Given the description of an element on the screen output the (x, y) to click on. 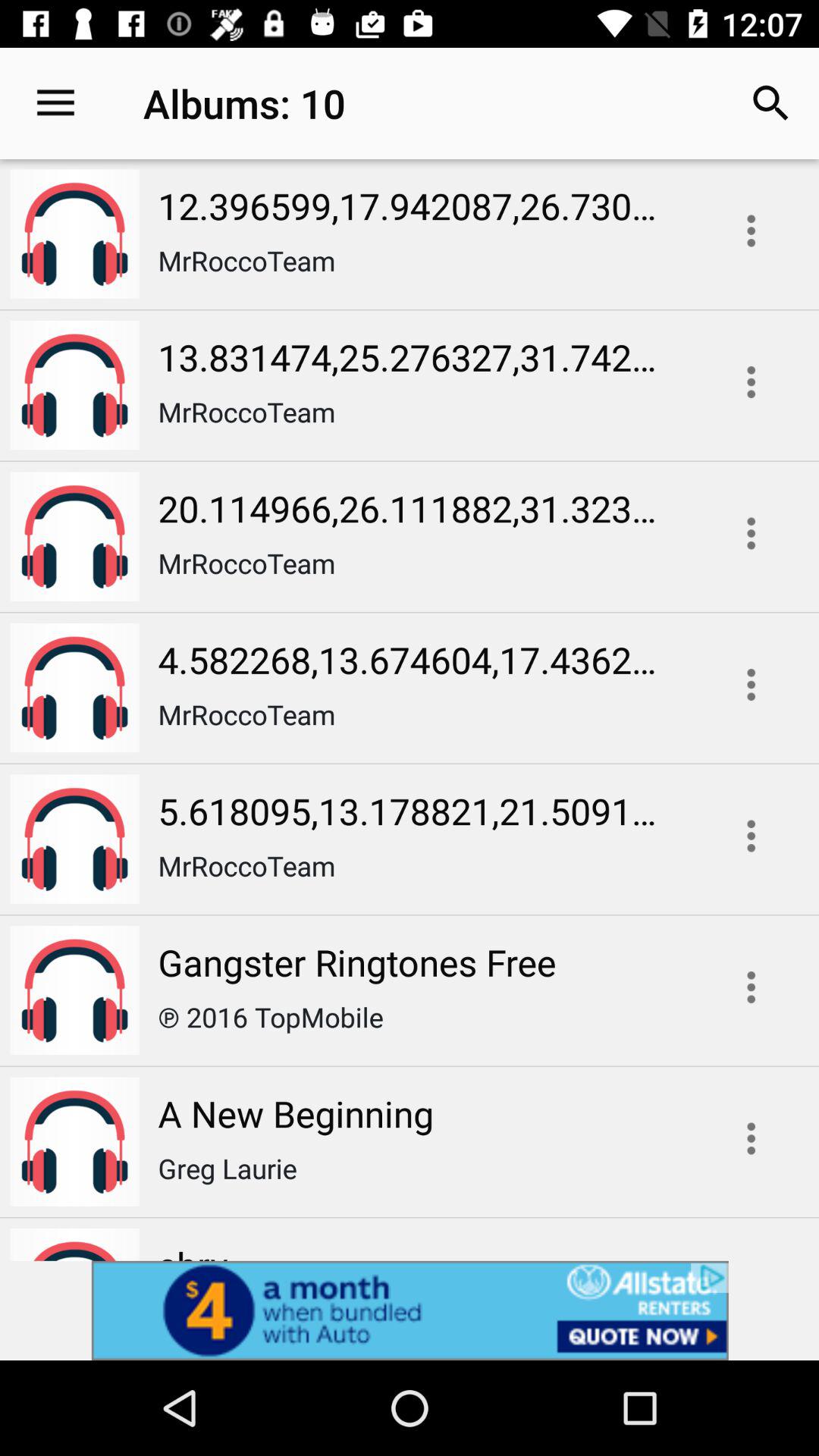
go to menu (750, 533)
